Given the description of an element on the screen output the (x, y) to click on. 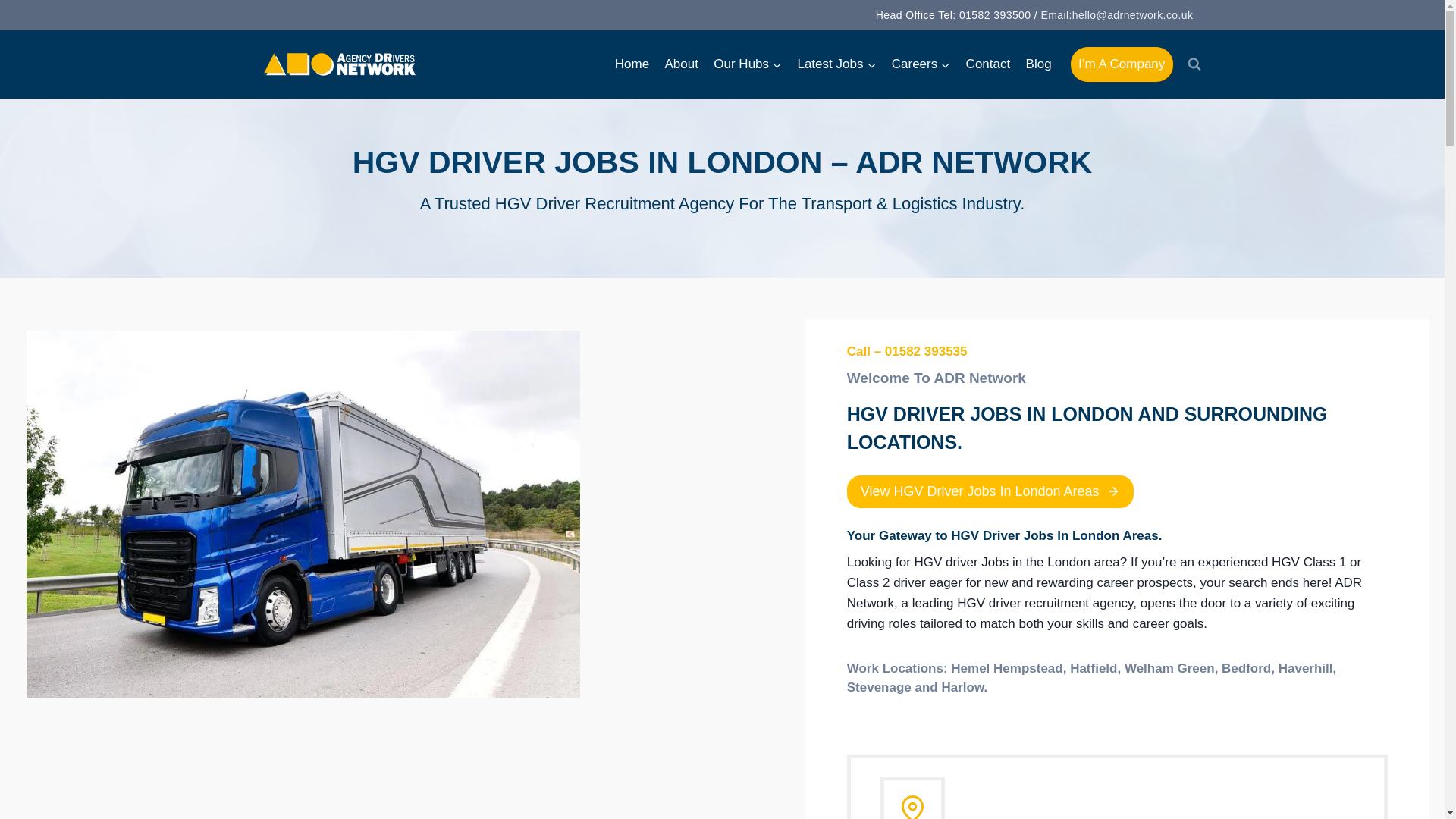
View HGV Driver Jobs In London Areas (990, 491)
Google map of ADR Network Headquarters - Luton (397, 773)
Careers (920, 63)
Our Hubs (747, 63)
Contact (987, 63)
Latest Jobs (836, 63)
Blog (1037, 63)
About (681, 63)
Home (632, 63)
